Given the description of an element on the screen output the (x, y) to click on. 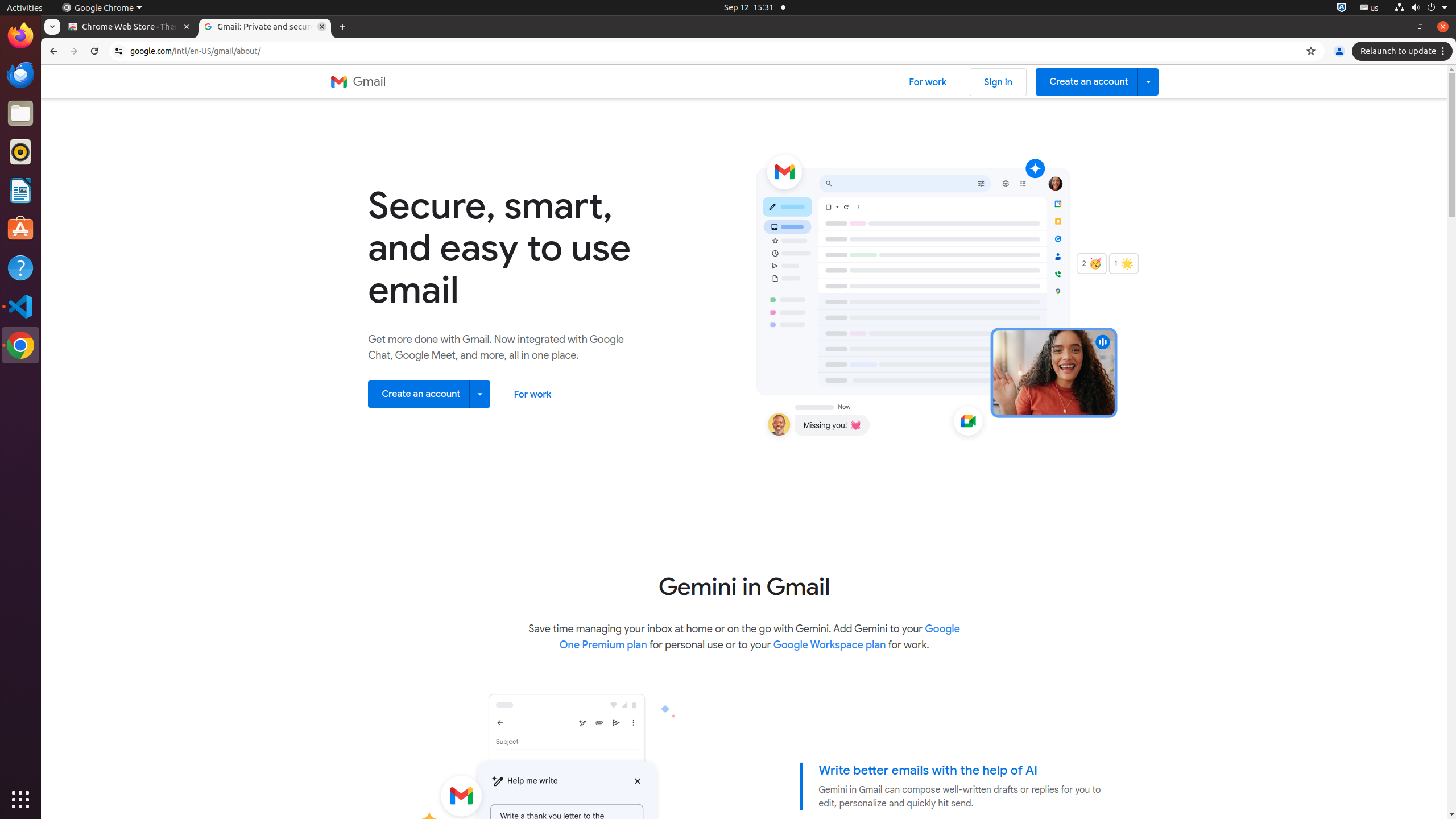
Google Chrome Element type: menu (101, 7)
Forward Element type: push-button (73, 50)
Google One Premium plan Element type: link (759, 636)
Sign in Element type: link (998, 81)
Gmail Element type: link (357, 81)
